Given the description of an element on the screen output the (x, y) to click on. 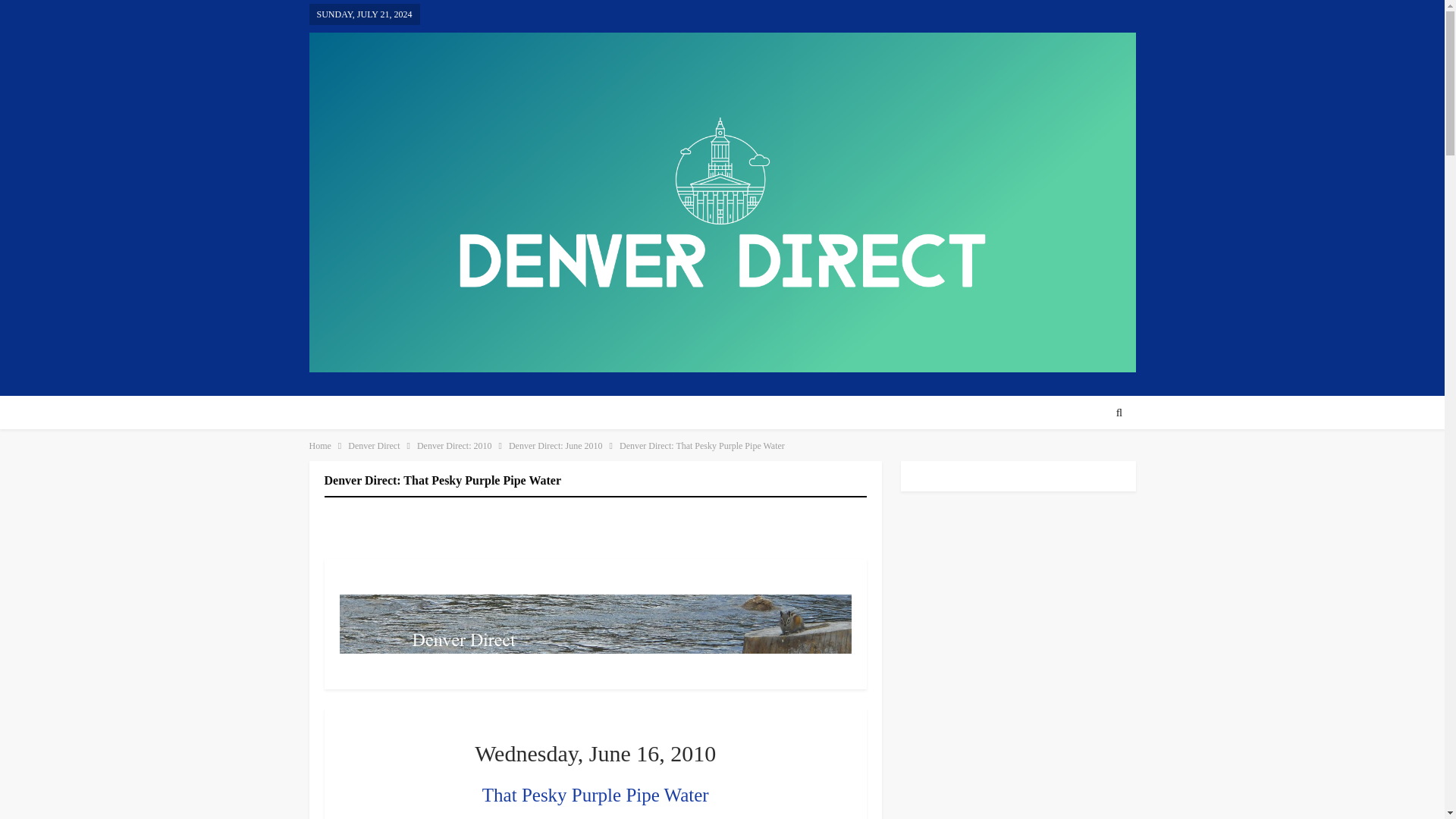
Denver Direct: 2010 (454, 445)
That Pesky Purple Pipe Water (595, 794)
Denver Direct: June 2010 (555, 445)
Denver Direct (372, 445)
Home (319, 445)
